Given the description of an element on the screen output the (x, y) to click on. 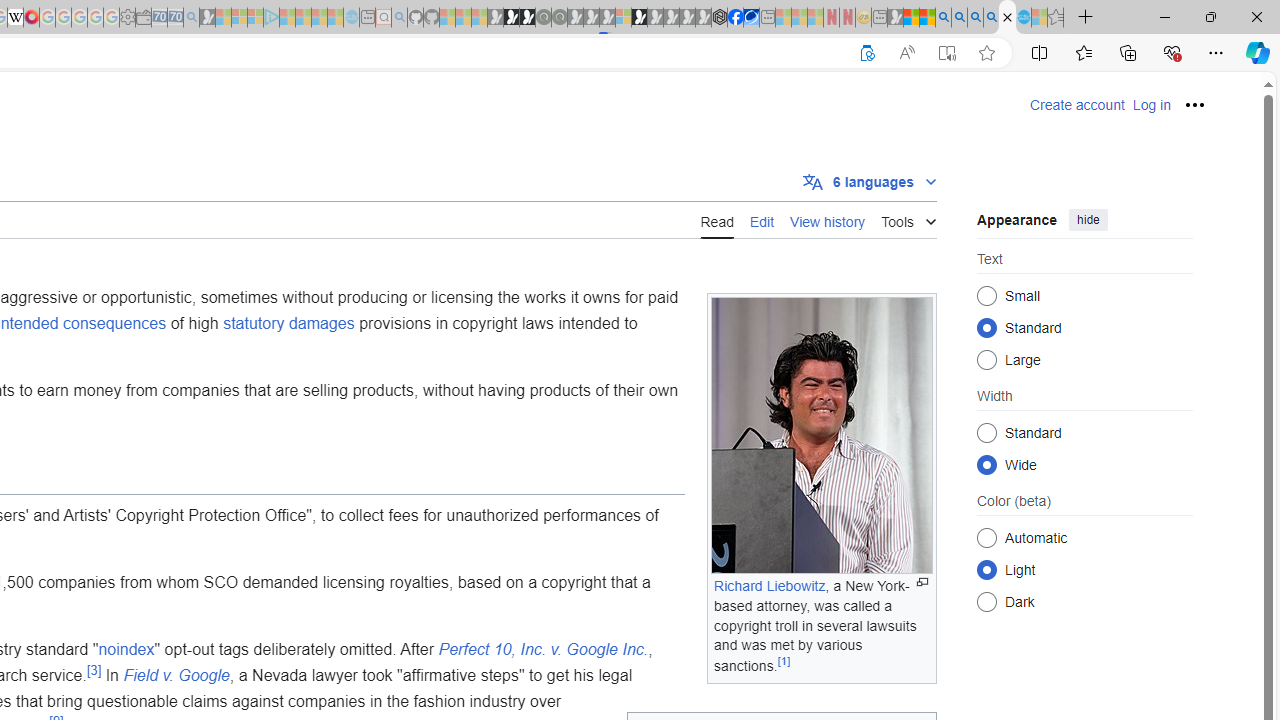
statutory damages (288, 322)
Standard (986, 431)
Future Focus Report 2024 - Sleeping (559, 17)
Richard Liebowitz (769, 586)
Copyright troll - Wikipedia (1007, 17)
hide (1088, 219)
Large (986, 359)
